Given the description of an element on the screen output the (x, y) to click on. 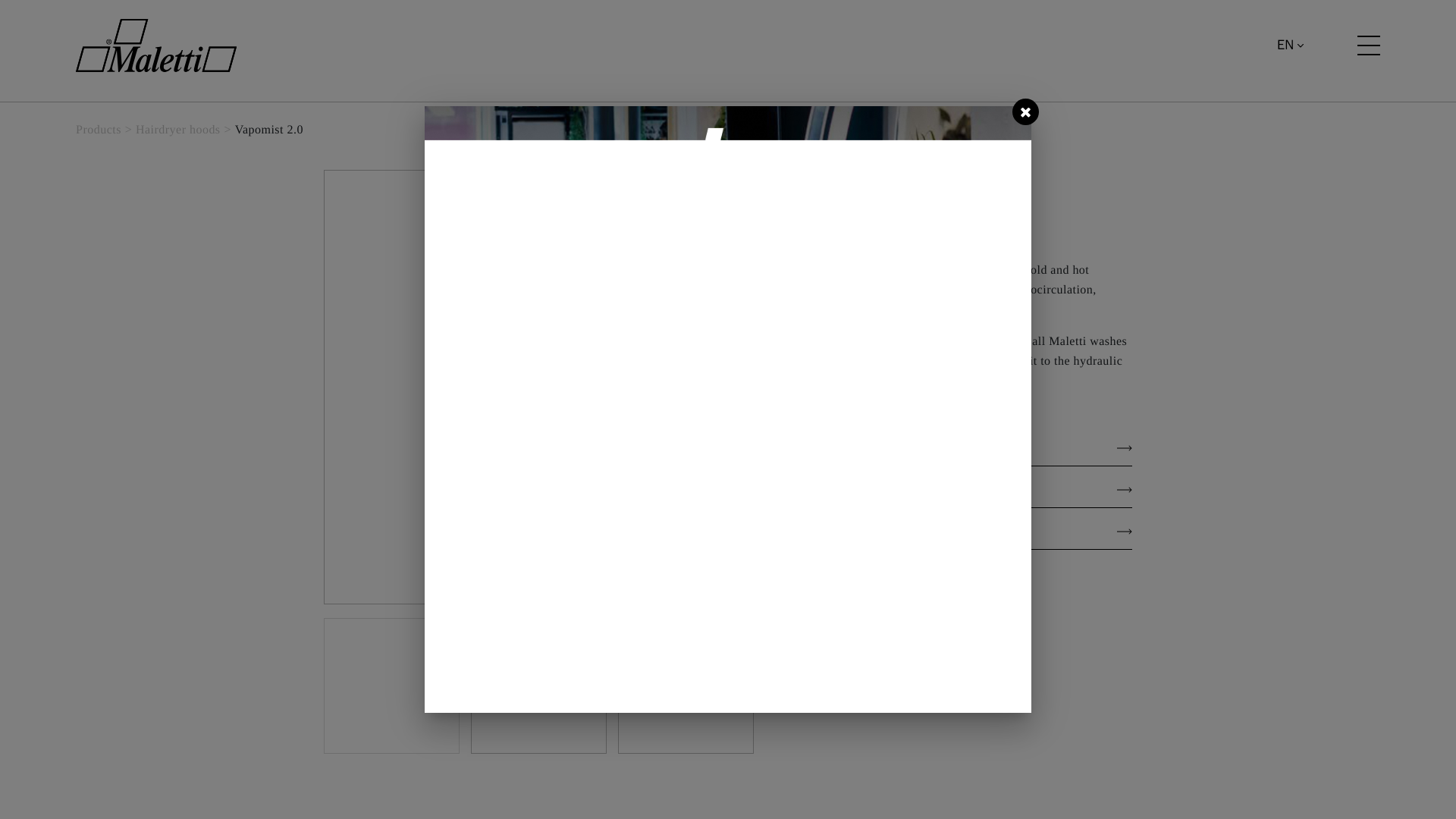
Maletti Creative Team (882, 227)
Maletti (156, 45)
Products (97, 129)
Hairdryer hoods (178, 129)
Maletti (155, 45)
info request (962, 620)
